Given the description of an element on the screen output the (x, y) to click on. 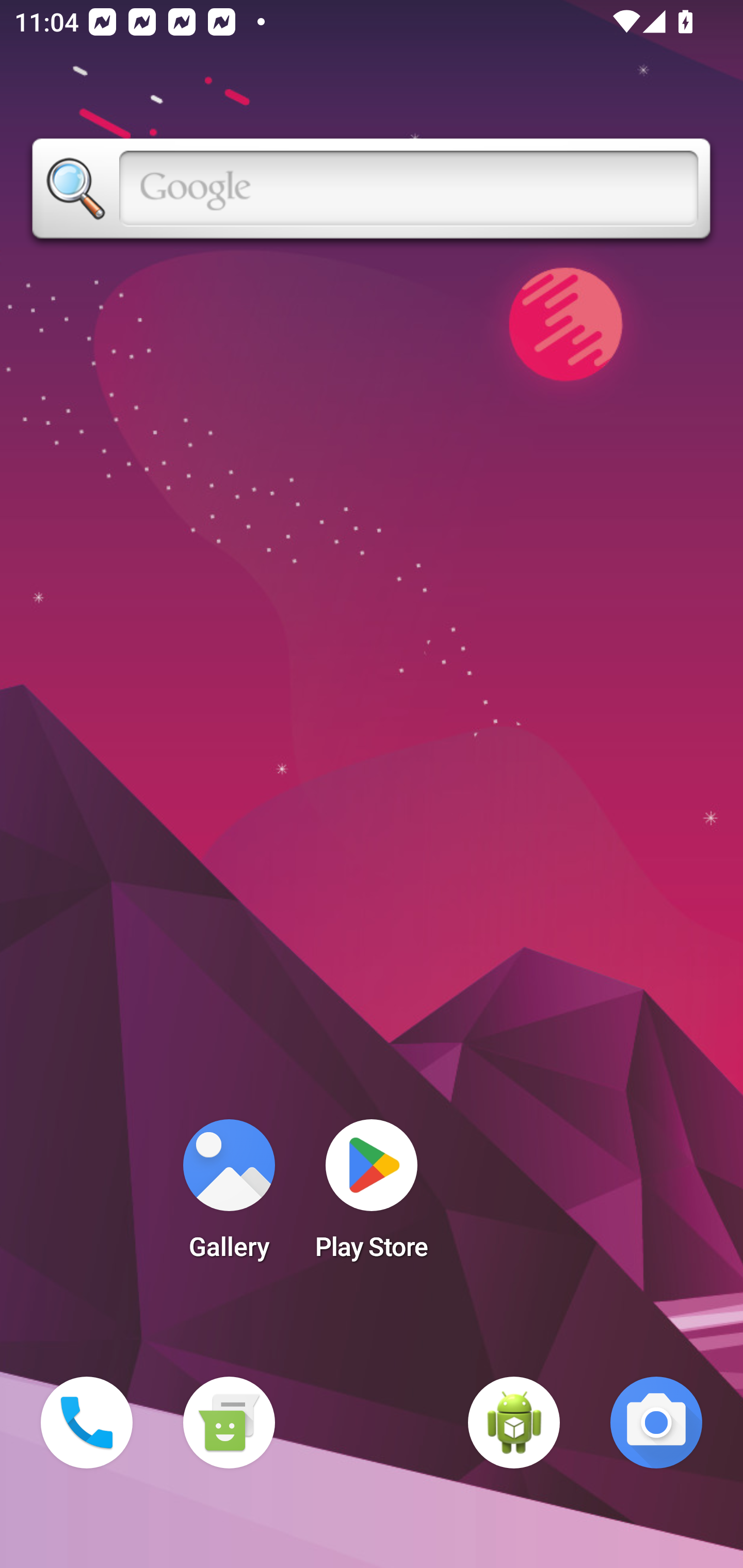
Gallery (228, 1195)
Play Store (371, 1195)
Phone (86, 1422)
Messaging (228, 1422)
WebView Browser Tester (513, 1422)
Camera (656, 1422)
